Given the description of an element on the screen output the (x, y) to click on. 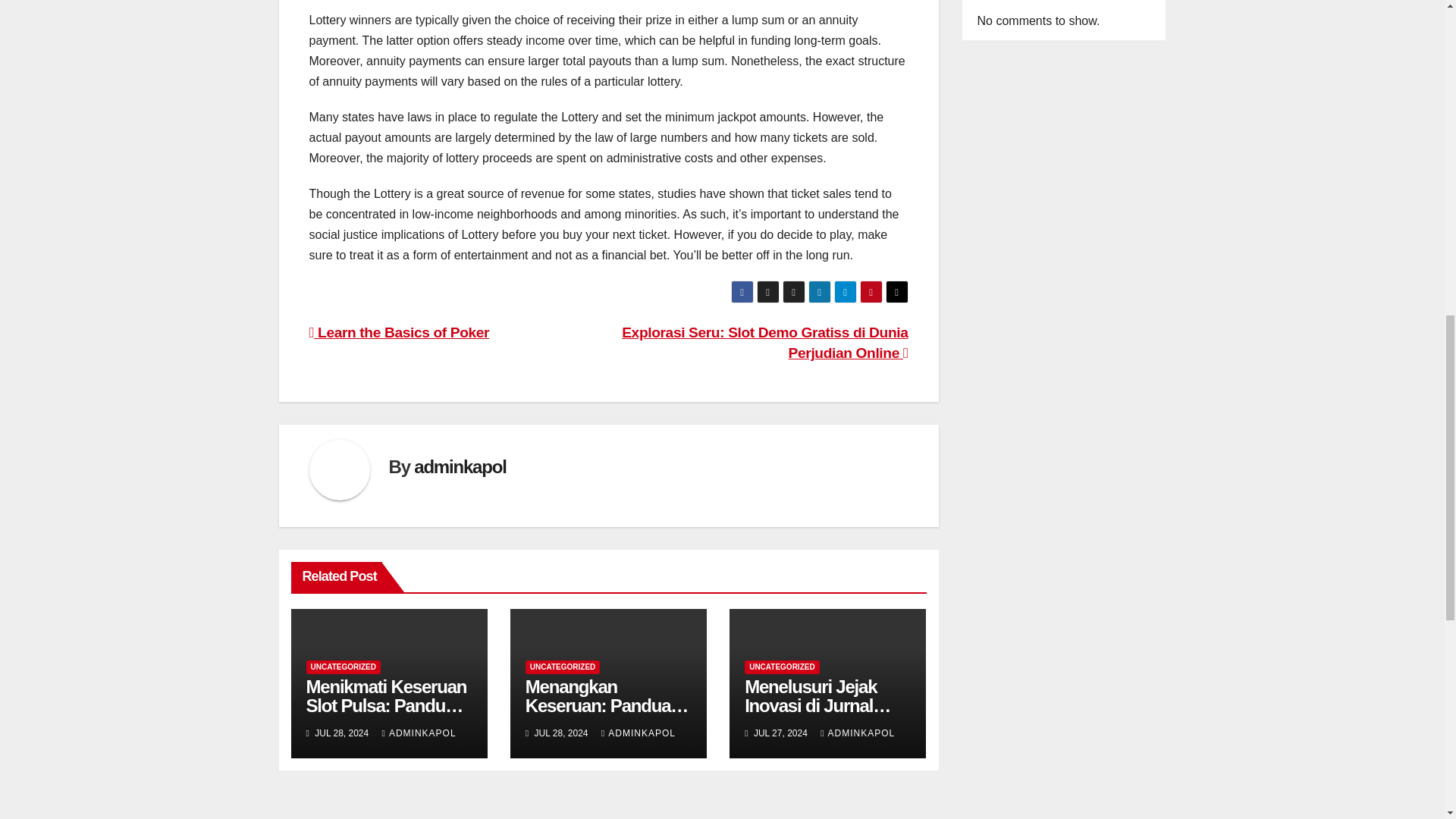
UNCATEGORIZED (342, 667)
UNCATEGORIZED (562, 667)
ADMINKAPOL (858, 733)
ADMINKAPOL (419, 733)
ADMINKAPOL (638, 733)
Learn the Basics of Poker (398, 332)
UNCATEGORIZED (781, 667)
adminkapol (459, 466)
Explorasi Seru: Slot Demo Gratiss di Dunia Perjudian Online (764, 342)
